Given the description of an element on the screen output the (x, y) to click on. 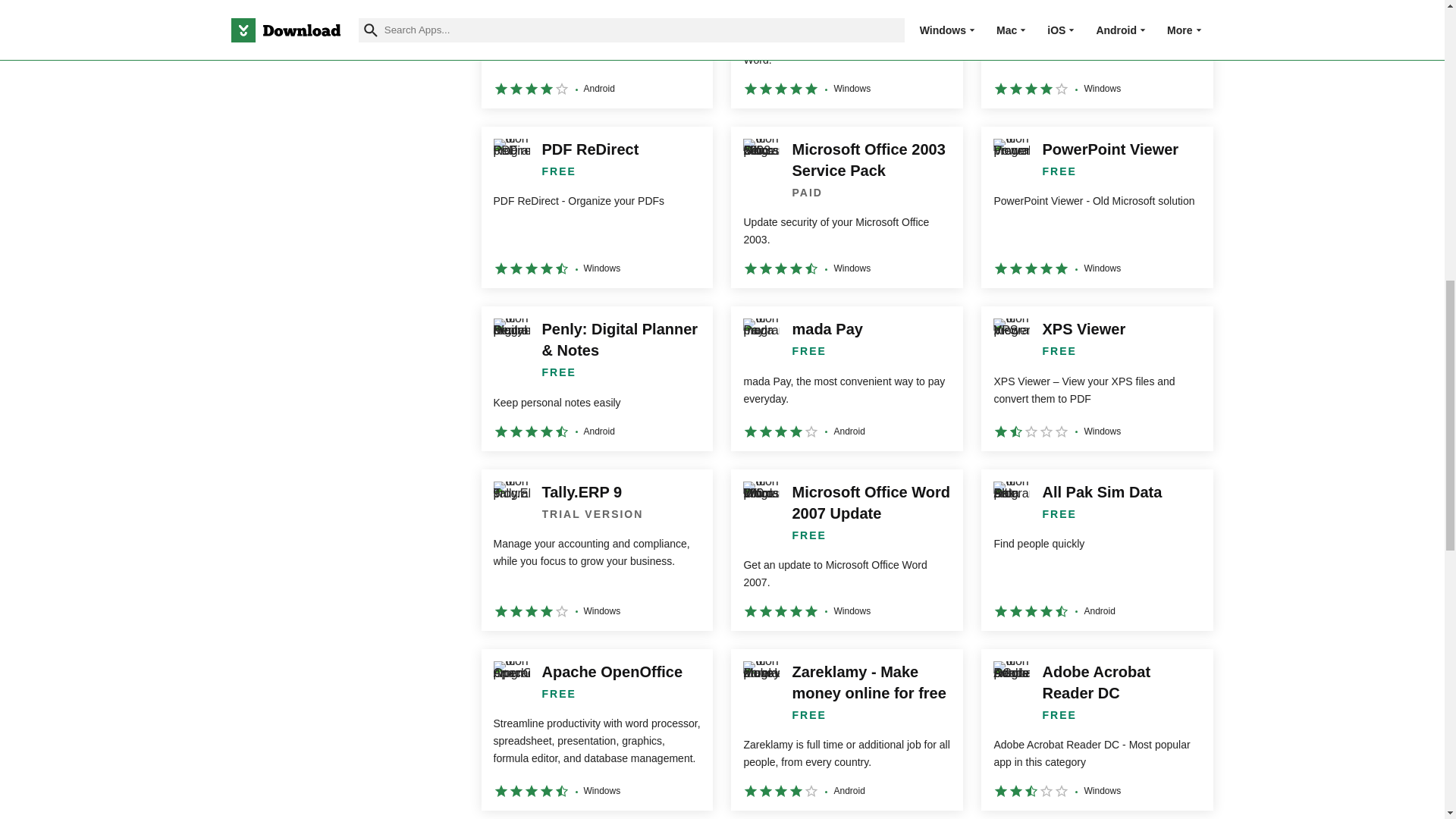
Apache OpenOffice (596, 729)
Microsoft Office Word 2007 Update (846, 549)
PowerPoint Viewer (1096, 207)
Free Barcode Generator (846, 54)
All Pak Sim Data (1096, 549)
XPS Viewer (1096, 378)
Zelle (596, 54)
Microsoft Excel 2013 (1096, 54)
Microsoft Office 2003 Service Pack (846, 207)
Tally.ERP 9 (596, 549)
